Given the description of an element on the screen output the (x, y) to click on. 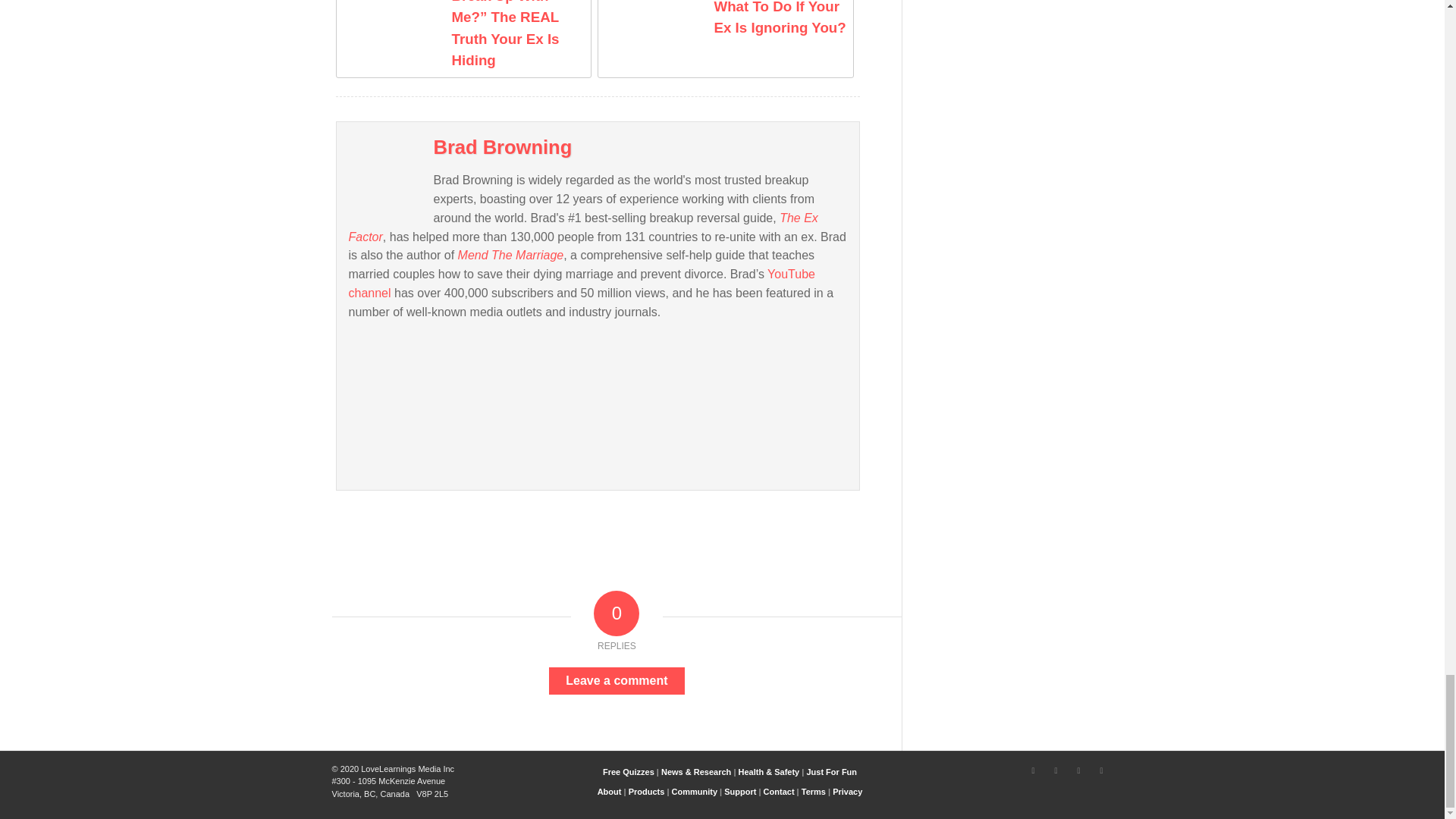
Mail (1101, 770)
X (1033, 770)
Facebook (1056, 770)
Youtube (1078, 770)
